Given the description of an element on the screen output the (x, y) to click on. 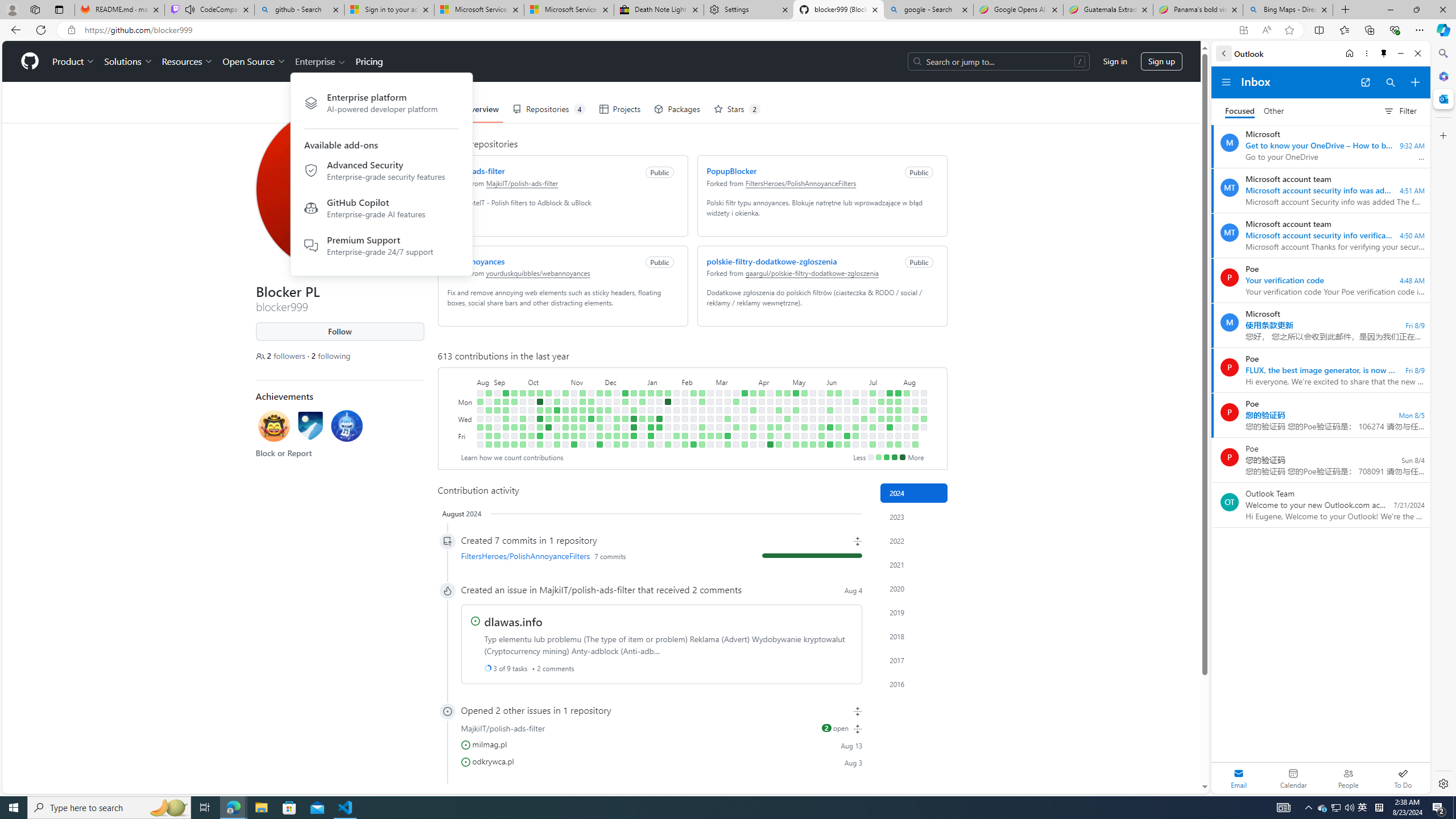
odkrywca.pl (492, 760)
23 contributions on January 22nd. (667, 401)
1 contribution on November 14th. (582, 410)
Calendar. Date today is 22 (1293, 777)
No contributions on November 6th. (573, 401)
Mute tab (189, 8)
9 contributions on September 10th. (505, 392)
No contributions on October 30th. (565, 401)
4 contributions on November 9th. (573, 427)
No contributions on October 3rd. (530, 410)
September (509, 380)
3 contributions on April 19th. (770, 435)
No contributions on March 5th. (718, 410)
No contributions on August 6th. (906, 410)
